Given the description of an element on the screen output the (x, y) to click on. 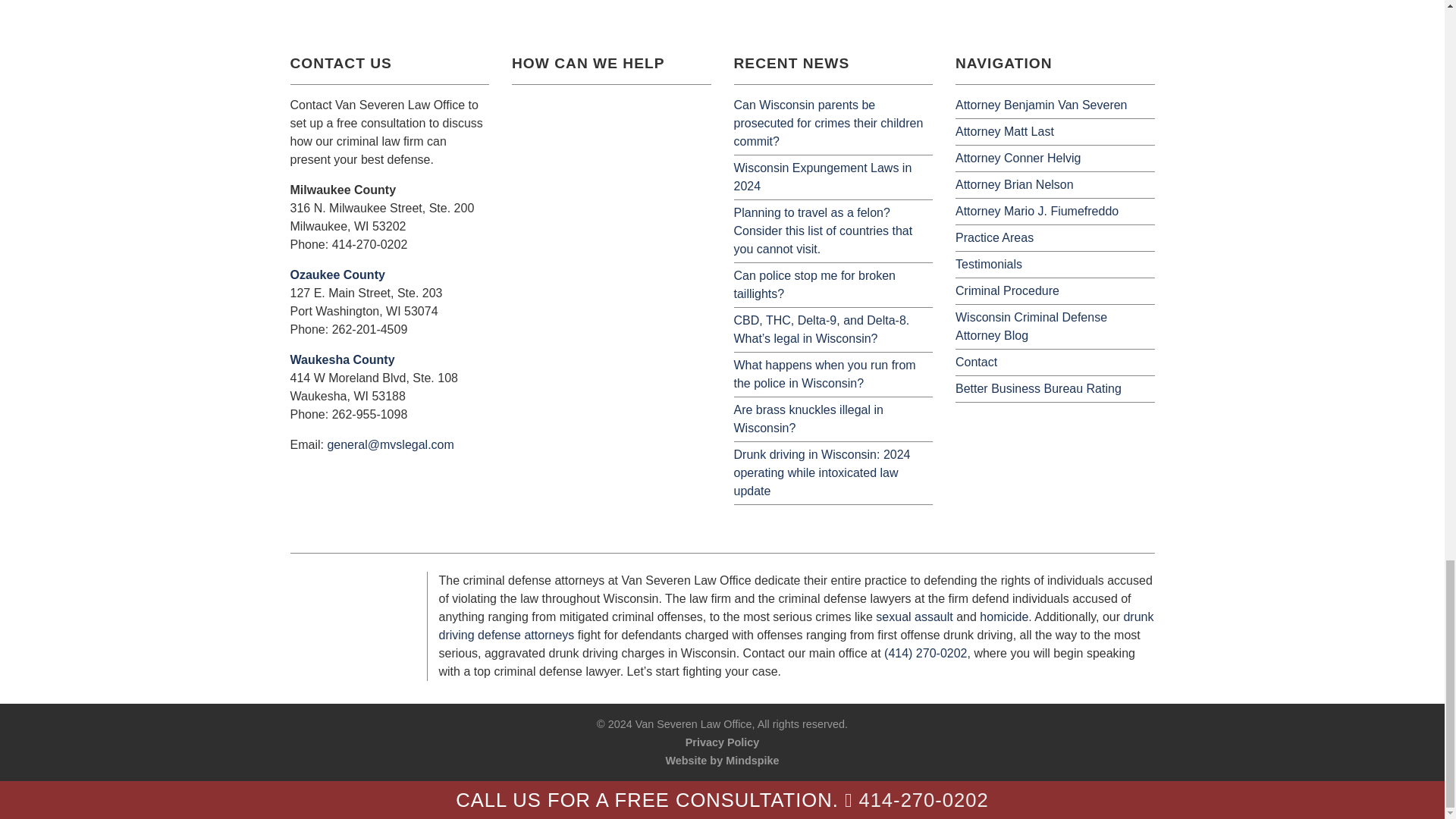
Permanent Link to Can police stop me for broken taillights? (814, 284)
Permanent Link to Wisconsin Expungement Laws in 2024 (822, 176)
